Given the description of an element on the screen output the (x, y) to click on. 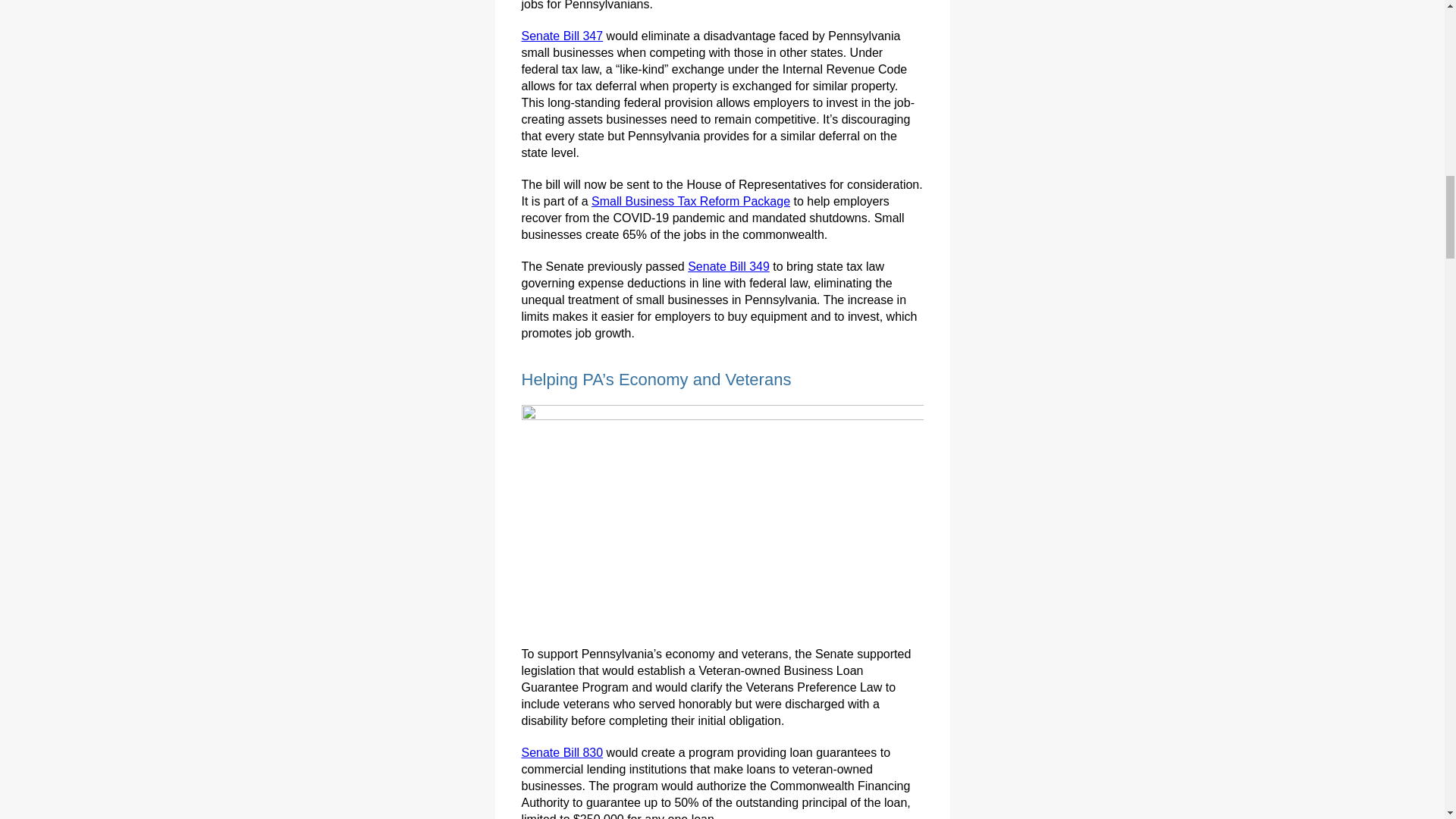
Senate Bill 349 (728, 266)
Senate Bill 830 (562, 752)
Senate Bill 347 (562, 35)
Small Business Tax Reform Package (690, 201)
